Given the description of an element on the screen output the (x, y) to click on. 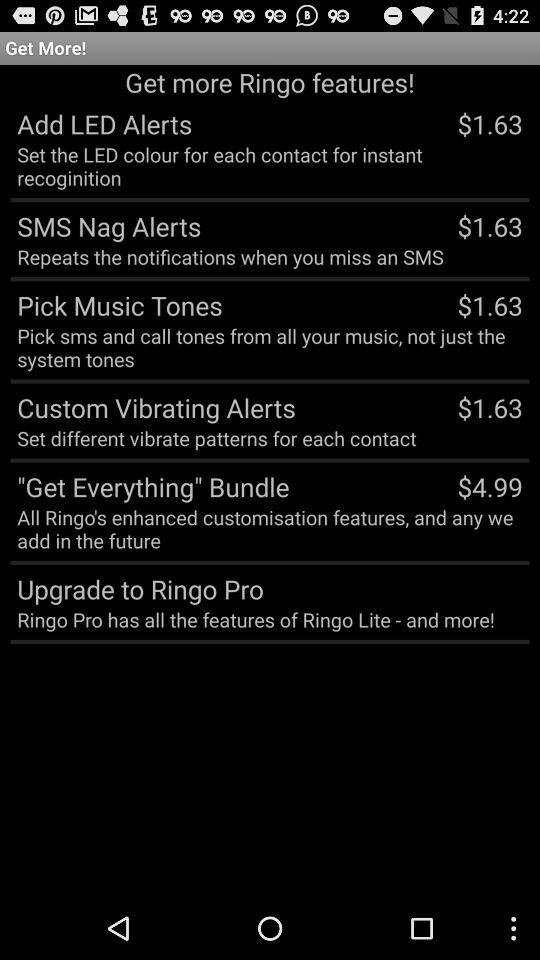
select icon above the set different vibrate item (152, 407)
